Given the description of an element on the screen output the (x, y) to click on. 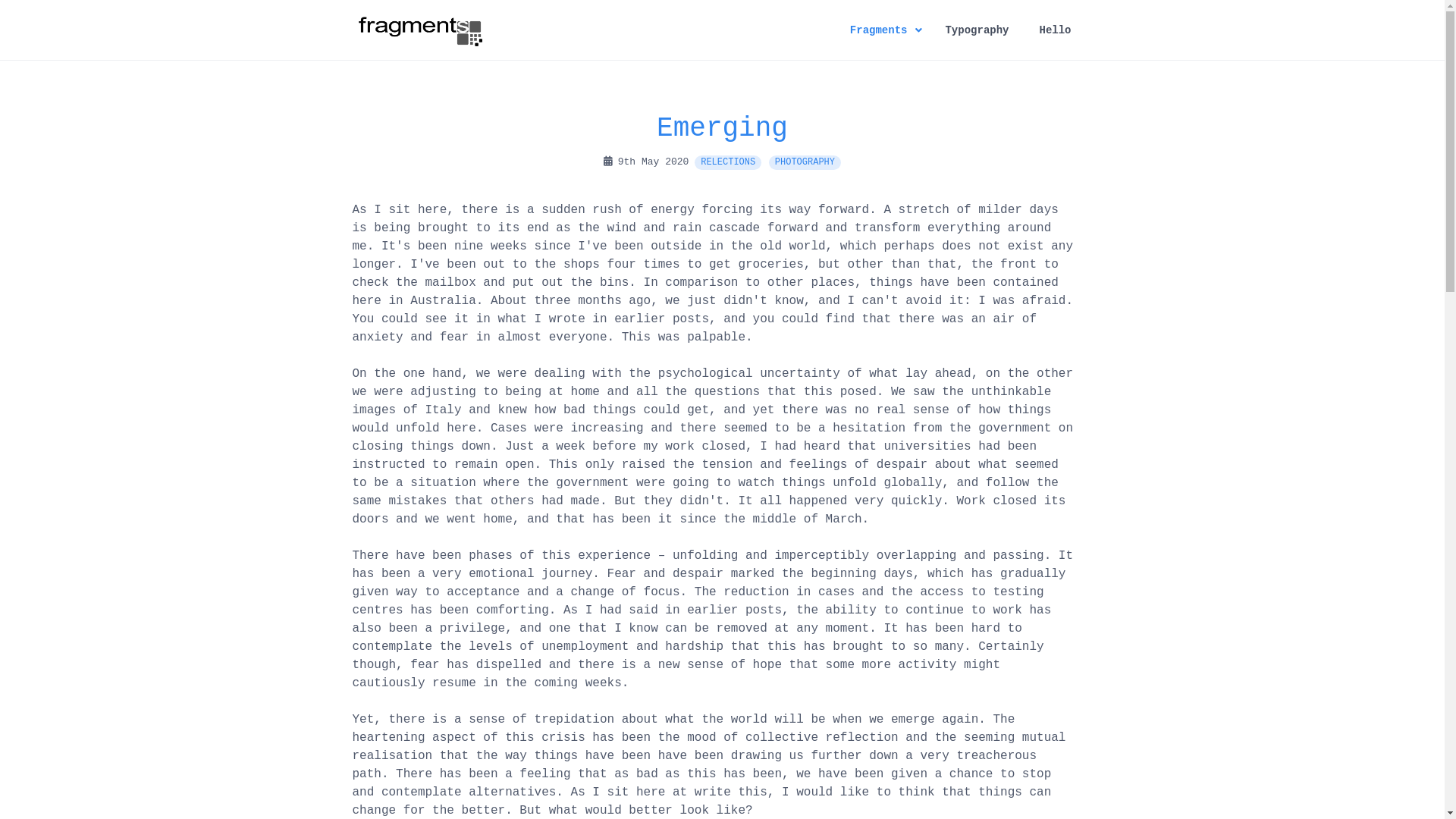
PHOTOGRAPHY Element type: text (804, 162)
Fragments Element type: text (882, 29)
Typography Element type: text (976, 29)
Emerging Element type: text (721, 128)
RELECTIONS Element type: text (727, 162)
Hello Element type: text (1054, 29)
